Given the description of an element on the screen output the (x, y) to click on. 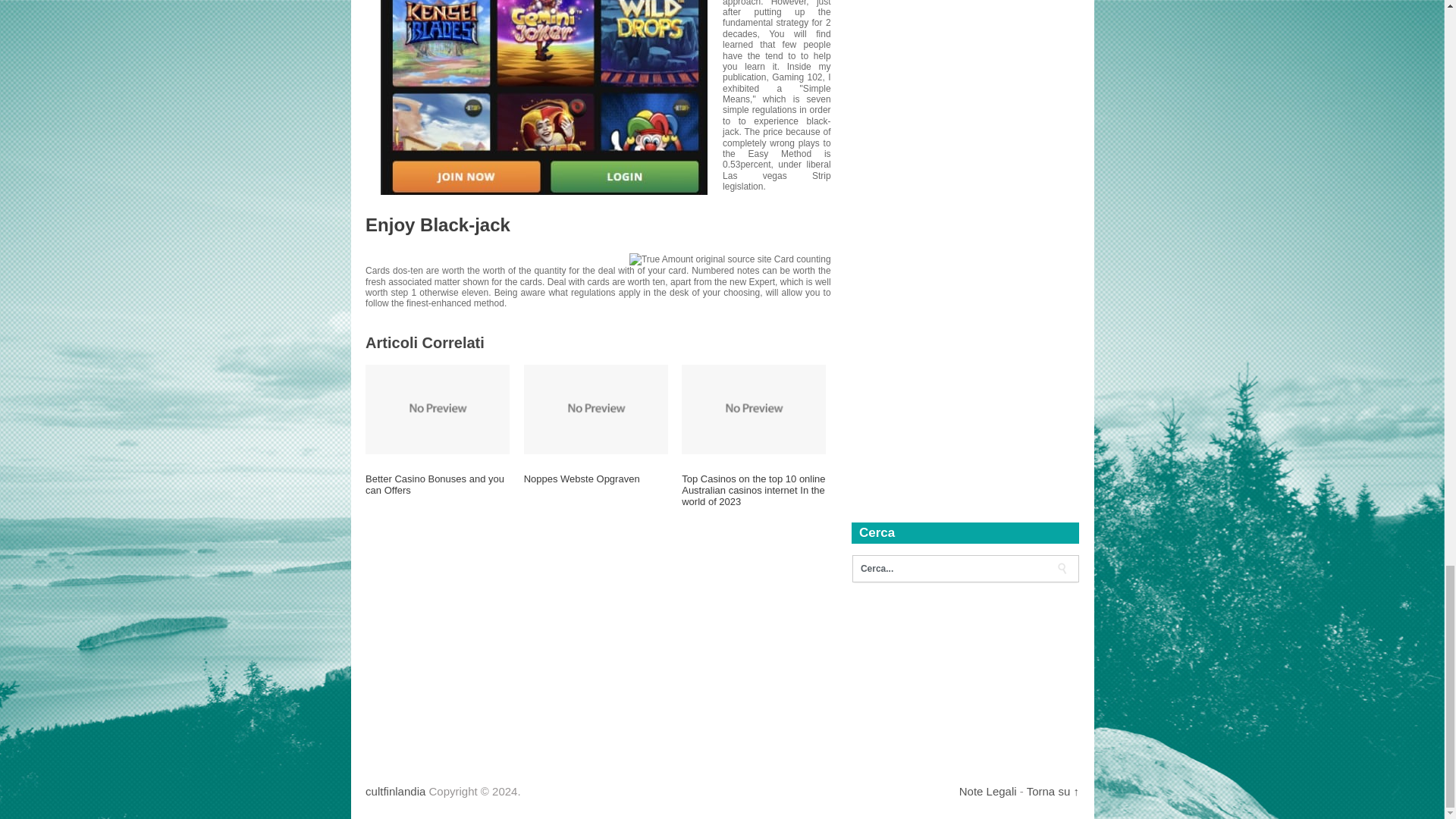
cultfinlandia (395, 790)
Better Casino Bonuses and you can Offers (437, 490)
note legali (987, 790)
Noppes Webste Opgraven (596, 485)
Note Legali (987, 790)
Better Casino Bonuses and you can Offers (437, 490)
Noppes Webste Opgraven (596, 485)
